Given the description of an element on the screen output the (x, y) to click on. 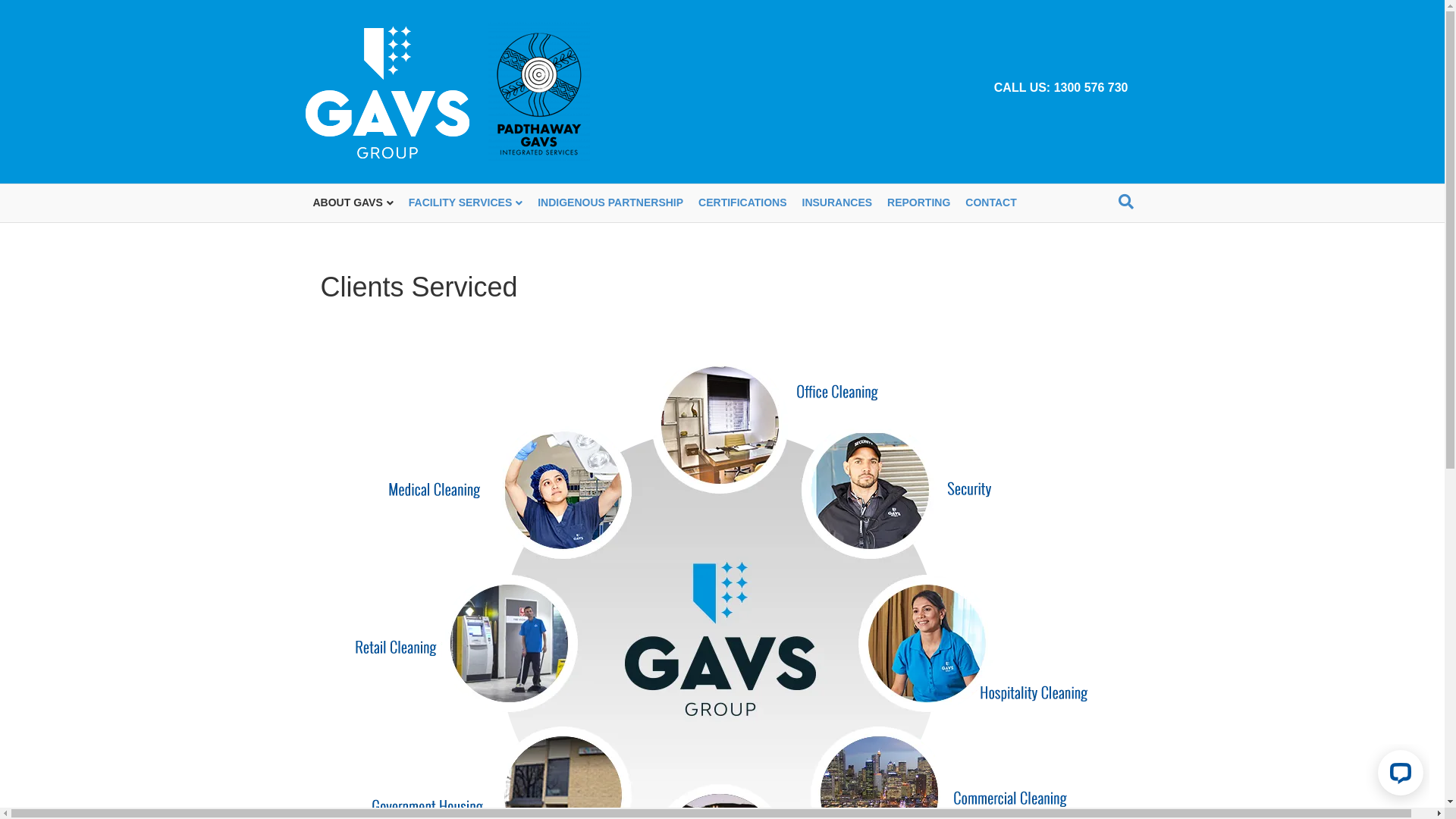
CALL US: 1300 576 730 Element type: text (1061, 87)
CONTACT Element type: text (990, 203)
REPORTING Element type: text (918, 203)
FACILITY SERVICES Element type: text (465, 203)
INSURANCES Element type: text (837, 203)
INDIGENOUS PARTNERSHIP Element type: text (610, 203)
CERTIFICATIONS Element type: text (741, 203)
LiveChat chat widget Element type: hover (1397, 775)
ABOUT GAVS Element type: text (352, 203)
